Given the description of an element on the screen output the (x, y) to click on. 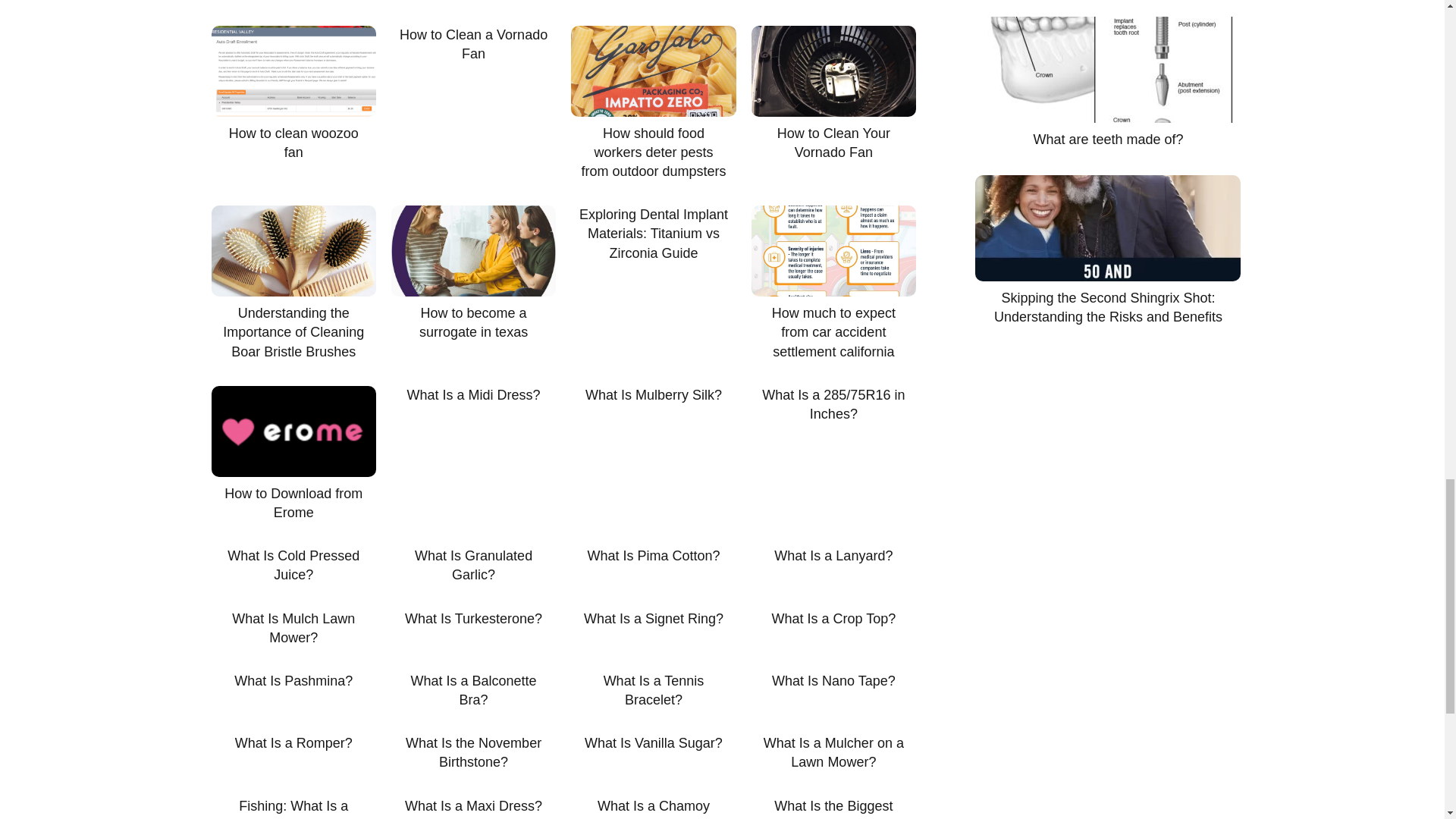
What Is Pashmina? (293, 681)
How to Download from Erome (293, 453)
What Is Pima Cotton? (652, 556)
What Is a Tennis Bracelet? (652, 690)
How to Clean a Vornado Fan (473, 44)
What Is a Balconette Bra? (473, 690)
What Is a Midi Dress? (473, 394)
How should food workers deter pests from outdoor dumpsters (652, 103)
What Is Granulated Garlic? (473, 565)
How much to expect from car accident settlement california (833, 283)
What Is Mulberry Silk? (652, 394)
